Given the description of an element on the screen output the (x, y) to click on. 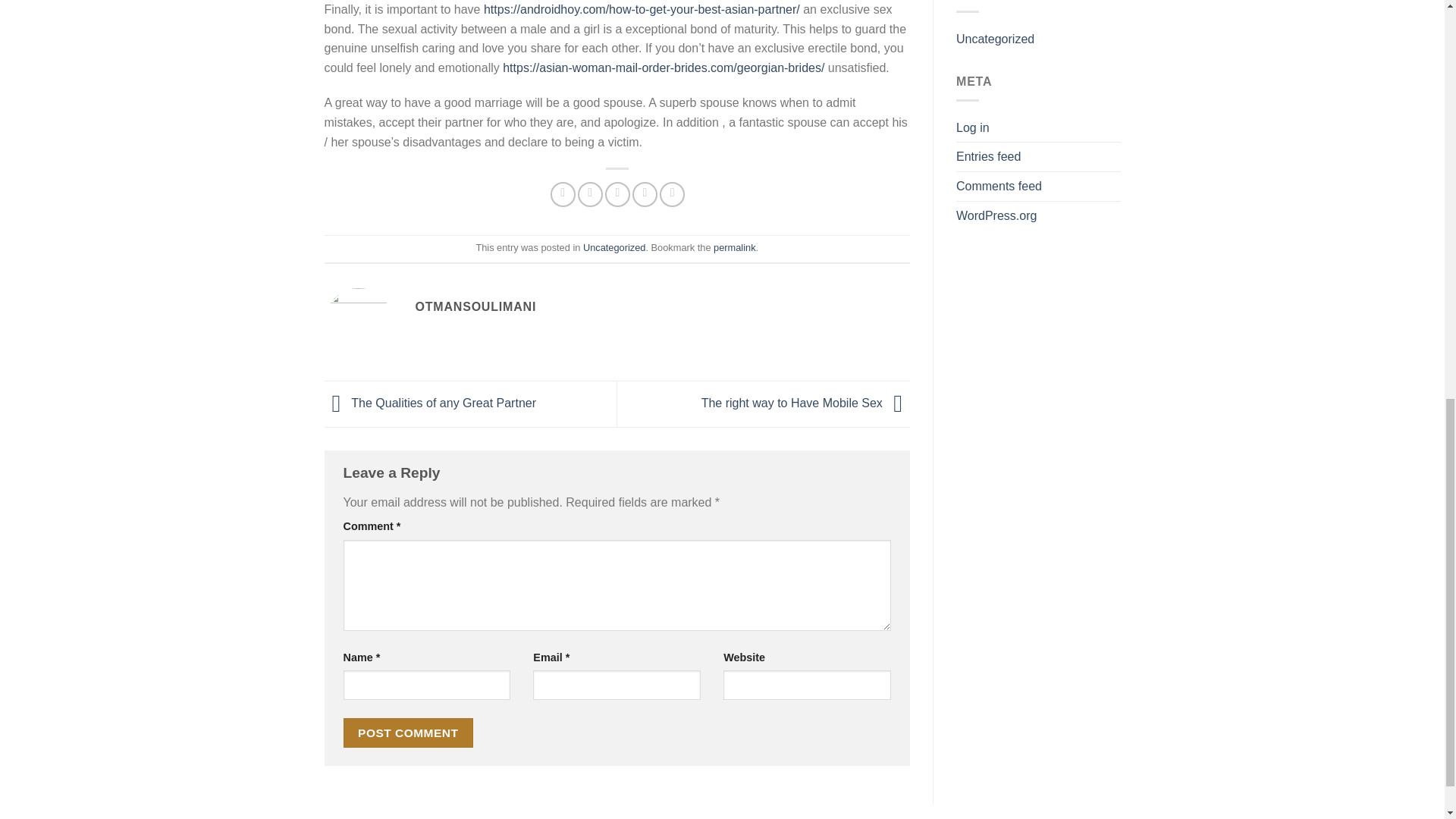
Email to a Friend (617, 194)
Permalink to How you can Have the best Marriage (734, 247)
Post Comment (407, 732)
Share on LinkedIn (671, 194)
Post Comment (407, 732)
The Qualities of any Great Partner (430, 402)
Share on Twitter (590, 194)
permalink (734, 247)
Share on Facebook (562, 194)
Pin on Pinterest (644, 194)
The right way to Have Mobile Sex (805, 402)
Uncategorized (614, 247)
